Given the description of an element on the screen output the (x, y) to click on. 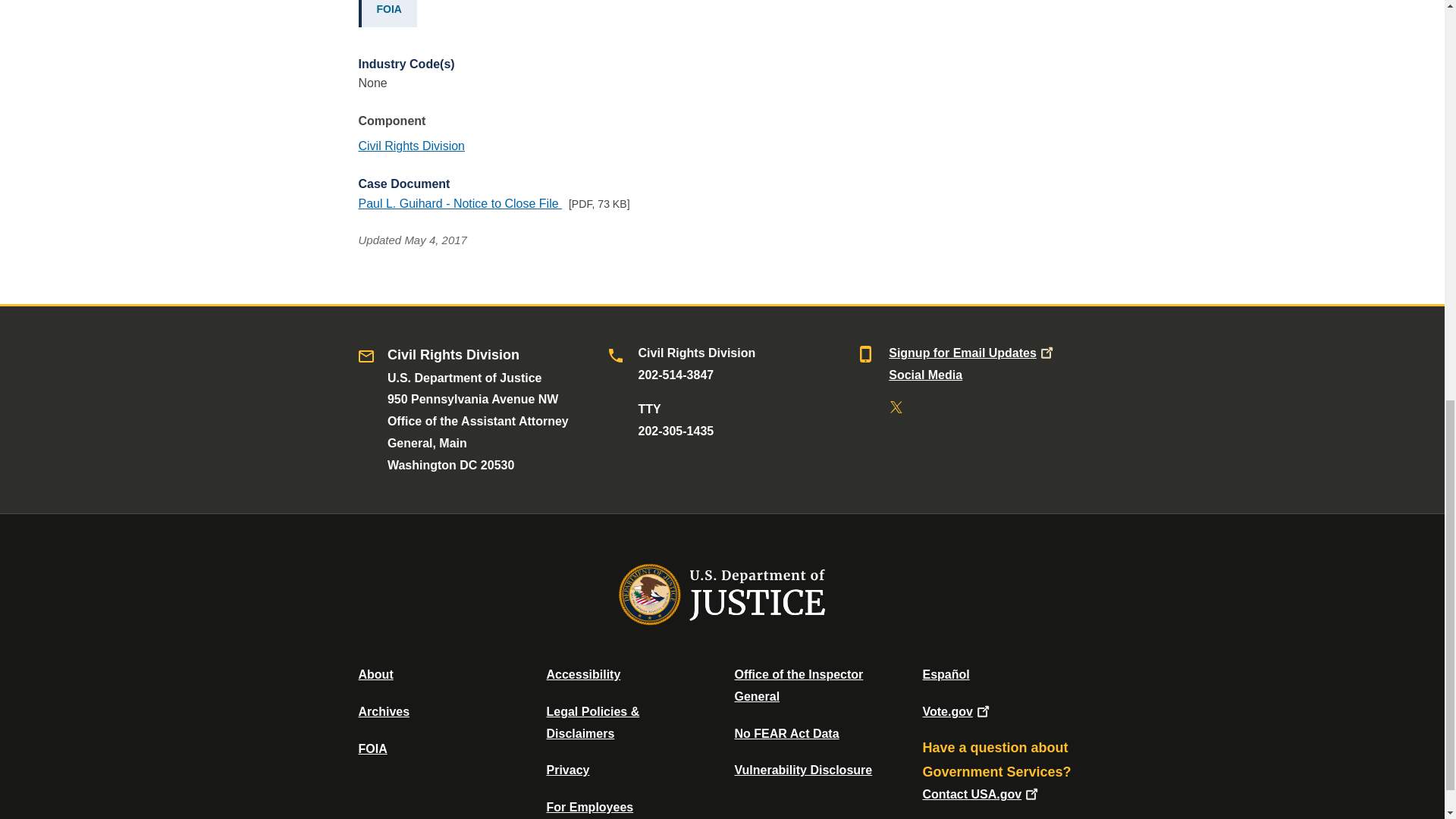
Data Posted Pursuant To The No Fear Act (785, 733)
For Employees (589, 807)
Department of Justice Archive (383, 711)
Accessibility Statement (583, 674)
Office of Information Policy (372, 748)
Civil Rights Division (411, 145)
About DOJ (375, 674)
Legal Policies and Disclaimers (592, 722)
Paul L. Guihard - Notice to Close File (460, 203)
